Given the description of an element on the screen output the (x, y) to click on. 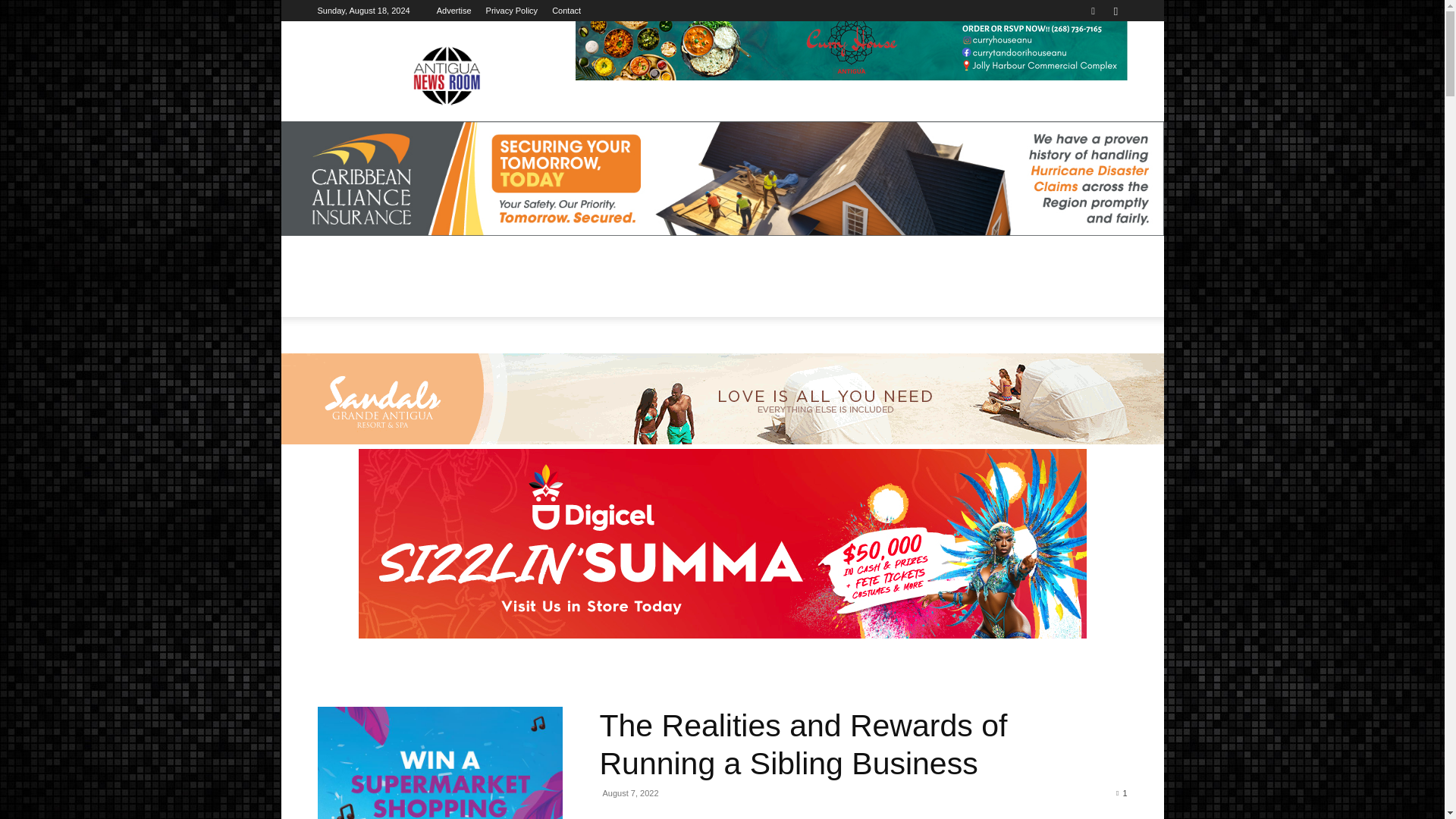
Instagram (1114, 10)
Privacy Policy (511, 10)
Contact (565, 10)
LOCAL NEWS (416, 286)
Advertise (453, 10)
Search (1085, 64)
